Given the description of an element on the screen output the (x, y) to click on. 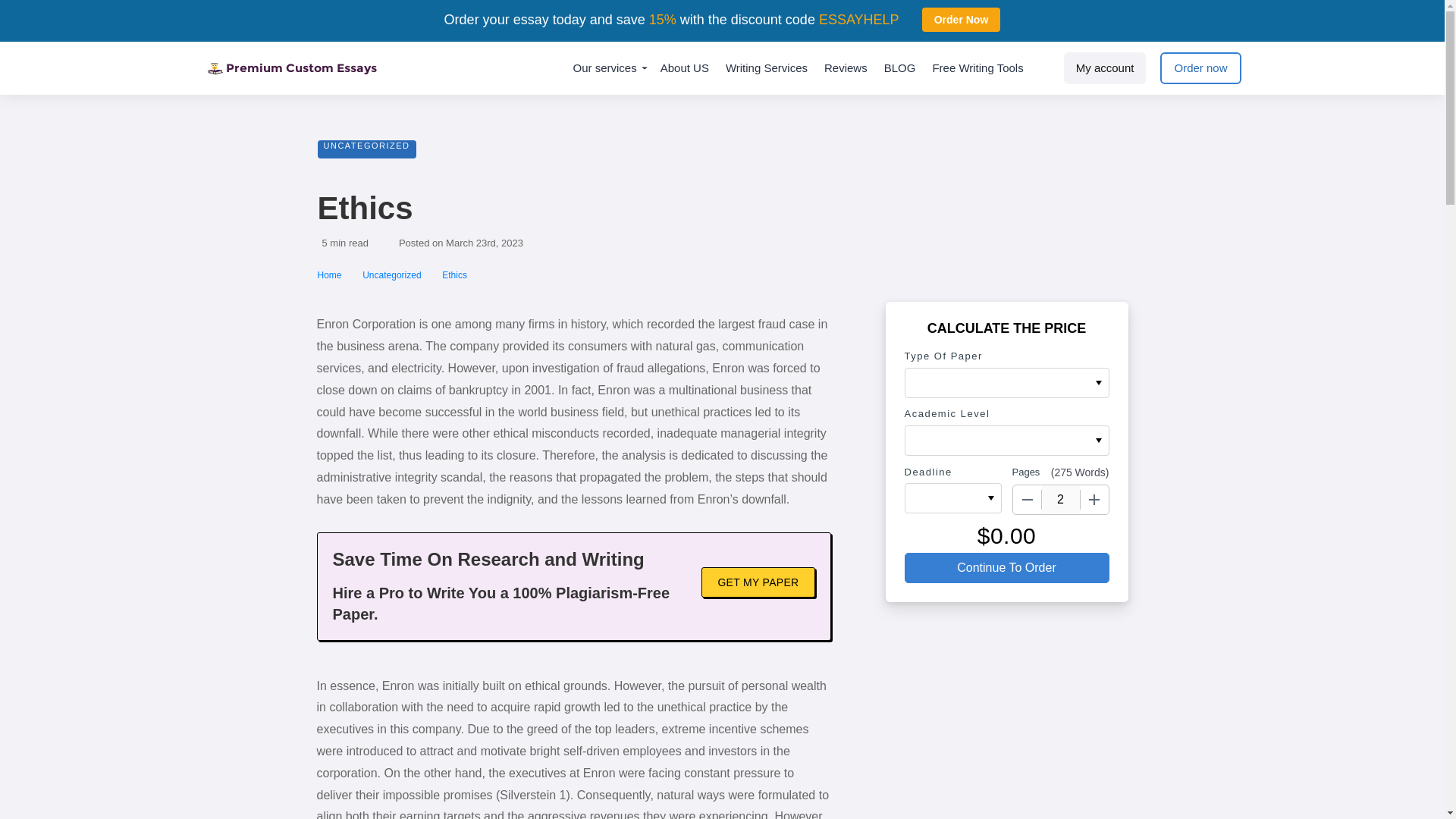
Decrease (1027, 499)
Ethics (454, 275)
Reviews (845, 67)
Order now (1200, 68)
BLOG (899, 67)
Home (330, 275)
Uncategorized (392, 275)
Increase (1094, 499)
Continue to order (1006, 567)
Order Now (961, 19)
